Given the description of an element on the screen output the (x, y) to click on. 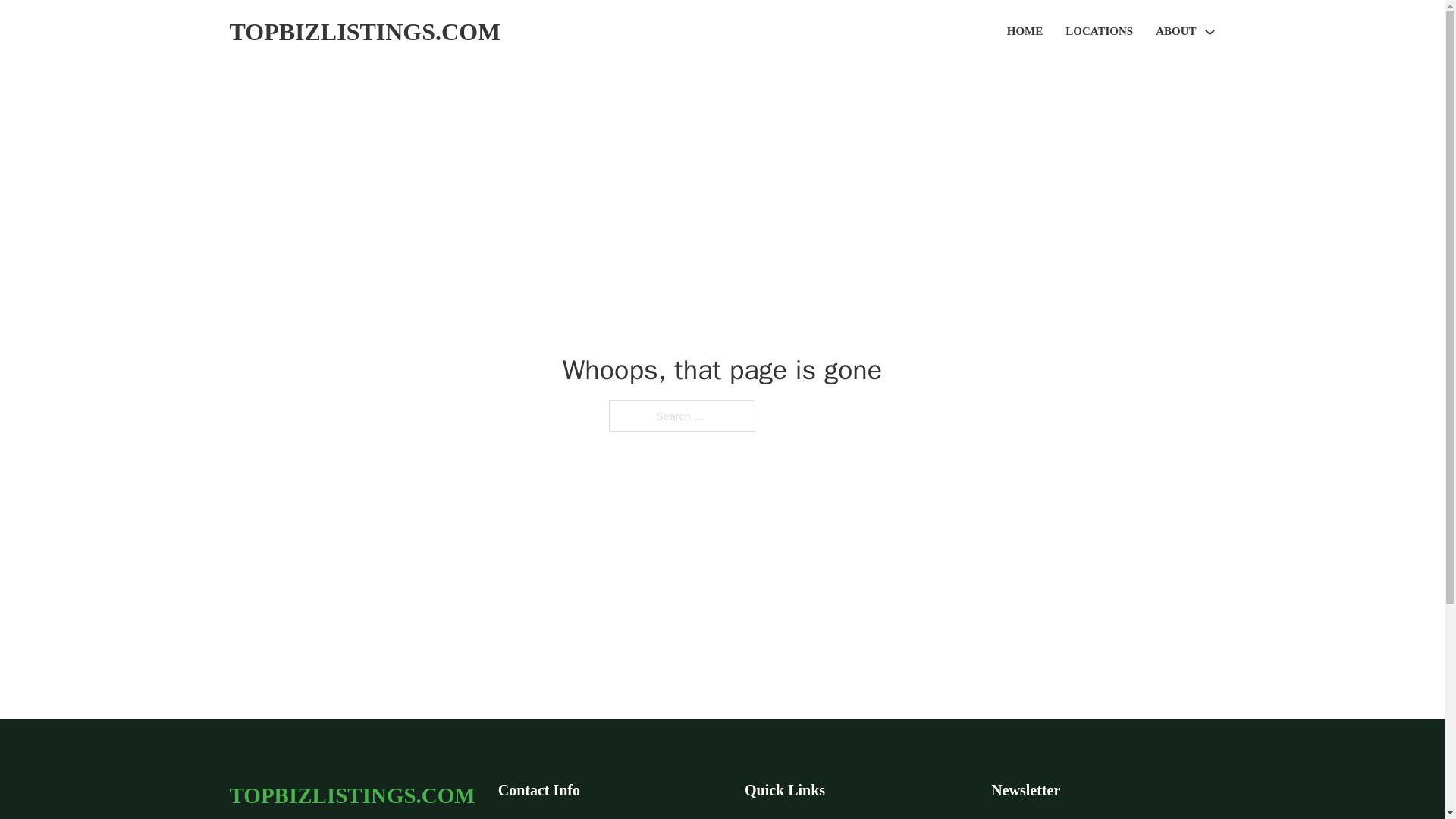
HOME (1025, 31)
LOCATIONS (1098, 31)
TOPBIZLISTINGS.COM (351, 795)
TOPBIZLISTINGS.COM (364, 31)
